Given the description of an element on the screen output the (x, y) to click on. 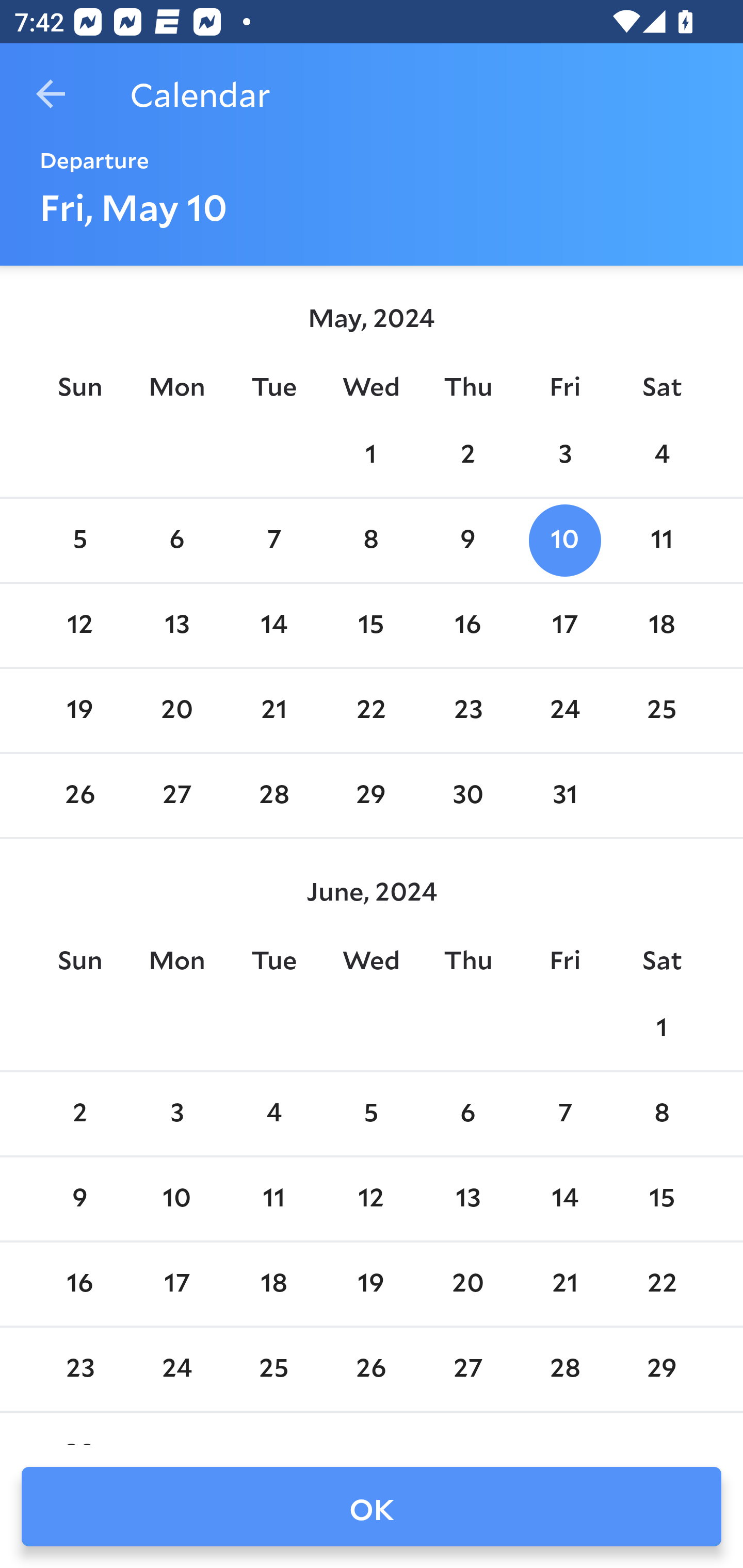
Navigate up (50, 93)
1 (371, 454)
2 (467, 454)
3 (565, 454)
4 (661, 454)
5 (79, 540)
6 (177, 540)
7 (273, 540)
8 (371, 540)
9 (467, 540)
10 (565, 540)
11 (661, 540)
12 (79, 625)
13 (177, 625)
14 (273, 625)
15 (371, 625)
16 (467, 625)
17 (565, 625)
18 (661, 625)
19 (79, 710)
20 (177, 710)
21 (273, 710)
22 (371, 710)
23 (467, 710)
24 (565, 710)
25 (661, 710)
26 (79, 796)
27 (177, 796)
28 (273, 796)
29 (371, 796)
30 (467, 796)
31 (565, 796)
1 (661, 1028)
2 (79, 1114)
3 (177, 1114)
4 (273, 1114)
5 (371, 1114)
6 (467, 1114)
7 (565, 1114)
8 (661, 1114)
9 (79, 1199)
10 (177, 1199)
11 (273, 1199)
12 (371, 1199)
13 (467, 1199)
14 (565, 1199)
15 (661, 1199)
16 (79, 1284)
17 (177, 1284)
18 (273, 1284)
